Given the description of an element on the screen output the (x, y) to click on. 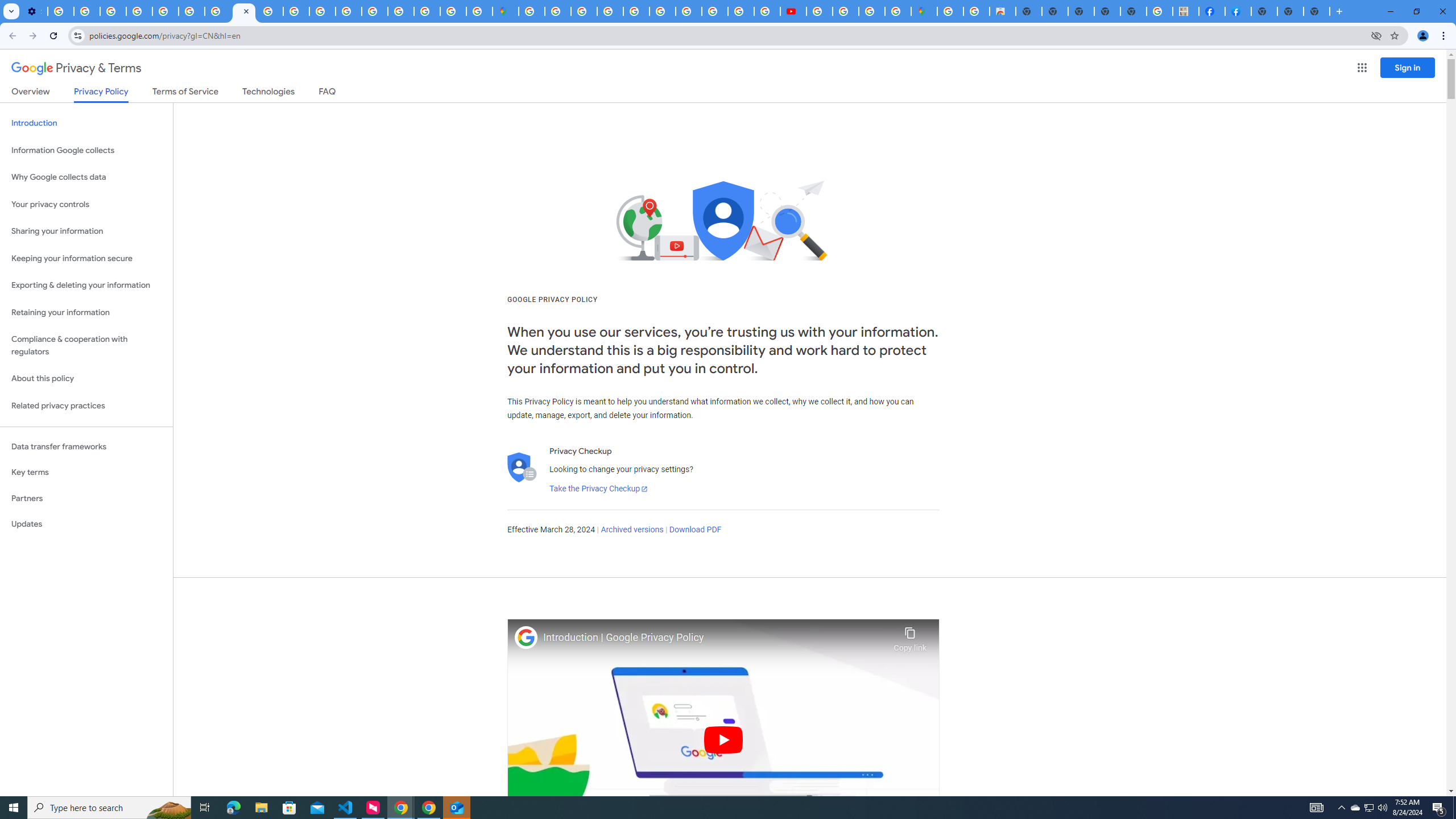
Chrome Web Store - Shopping (1002, 11)
Introduction | Google Privacy Policy (715, 637)
Sharing your information (86, 230)
Blogger Policies and Guidelines - Transparency Center (689, 11)
Download PDF (695, 529)
Your privacy controls (86, 204)
Archived versions (631, 529)
Privacy Help Center - Policies Help (740, 11)
